Given the description of an element on the screen output the (x, y) to click on. 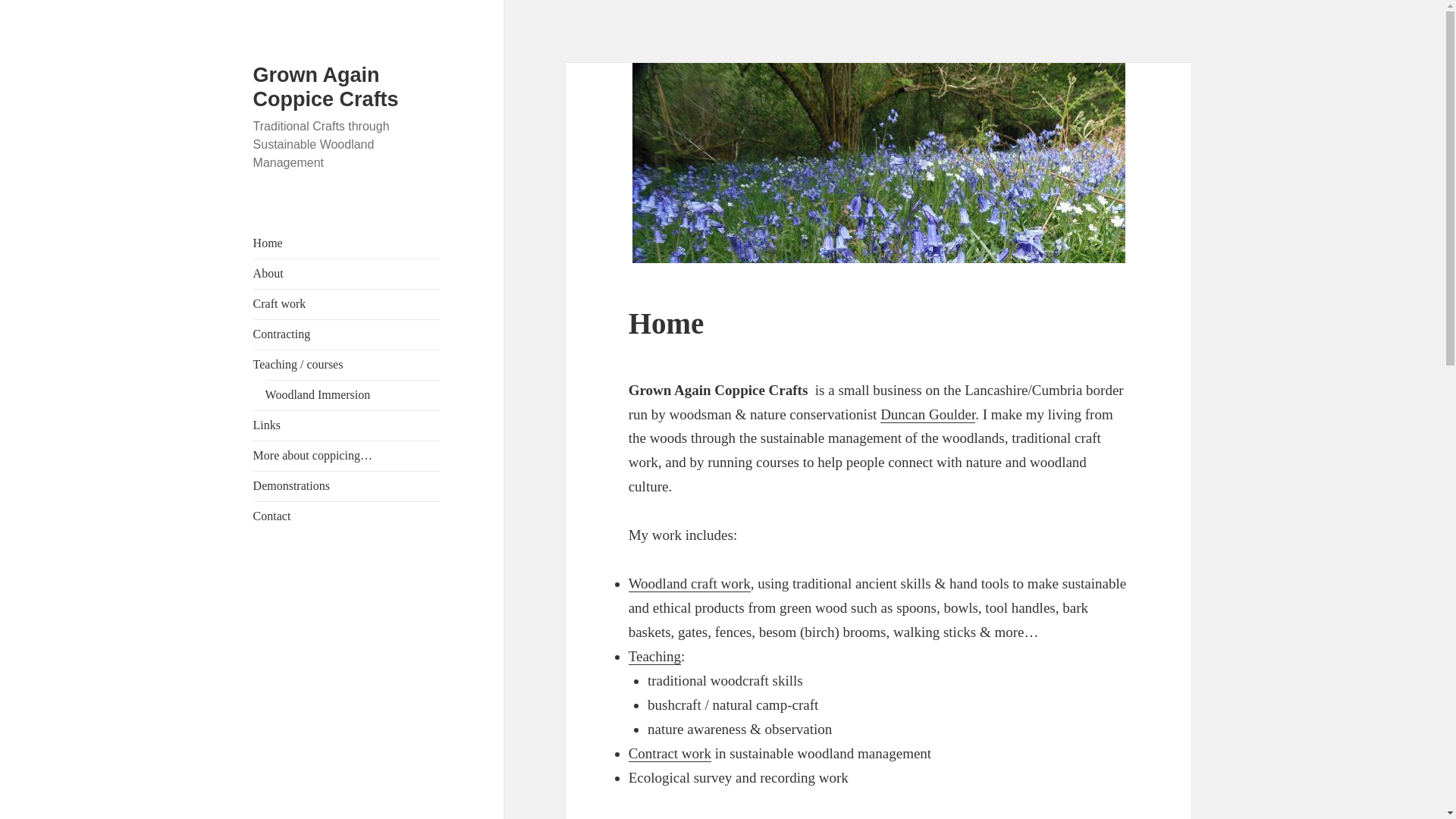
Grown Again Coppice Crafts (325, 86)
Teaching (654, 656)
Duncan Goulder (927, 414)
Woodland Immersion (317, 394)
Home (666, 323)
Contact (272, 515)
Demonstrations (291, 485)
Woodland craft work (689, 583)
Contract work (669, 753)
Home (267, 242)
